Given the description of an element on the screen output the (x, y) to click on. 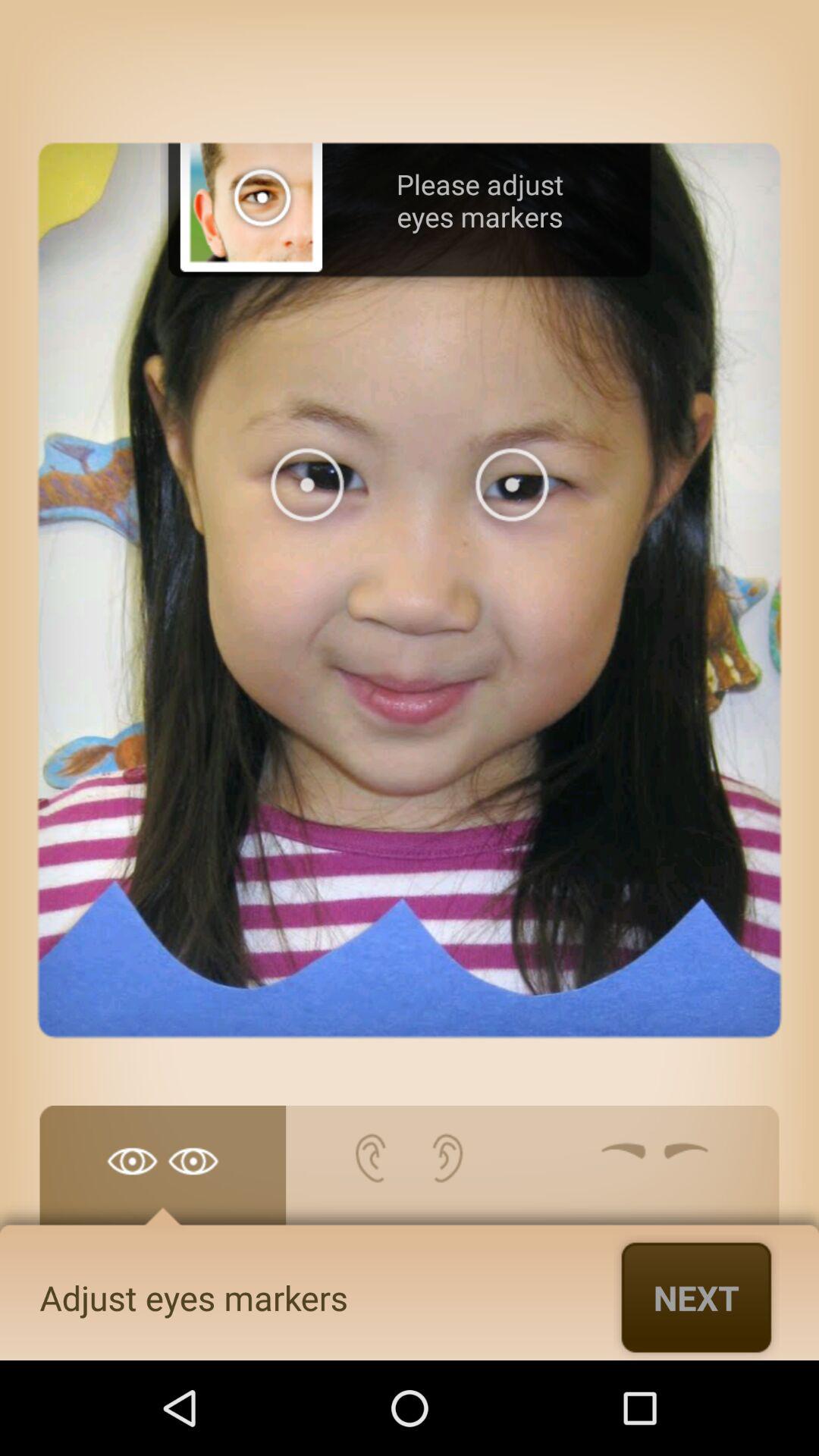
adjust eye markers (162, 1173)
